Given the description of an element on the screen output the (x, y) to click on. 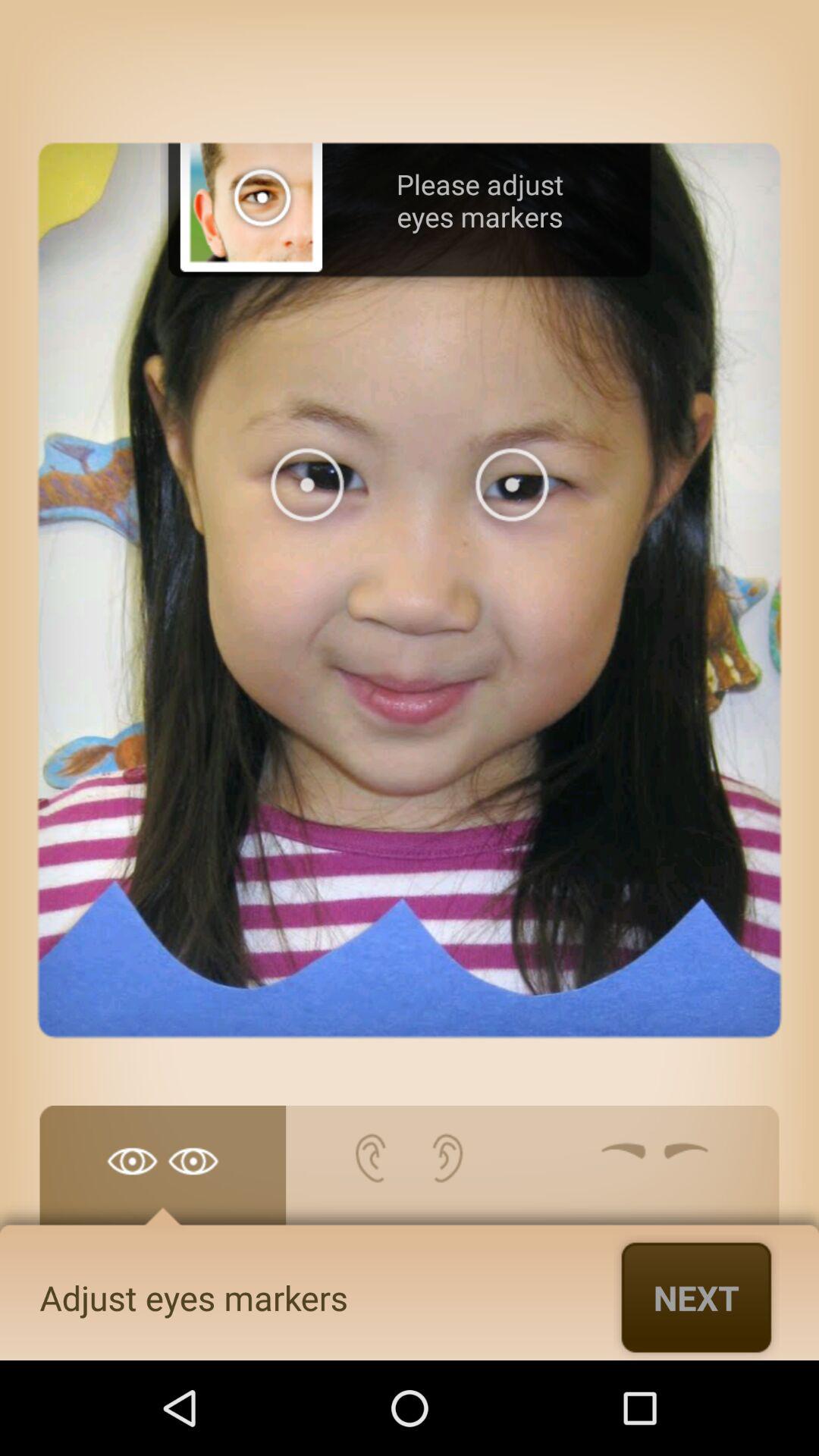
adjust eye markers (162, 1173)
